Given the description of an element on the screen output the (x, y) to click on. 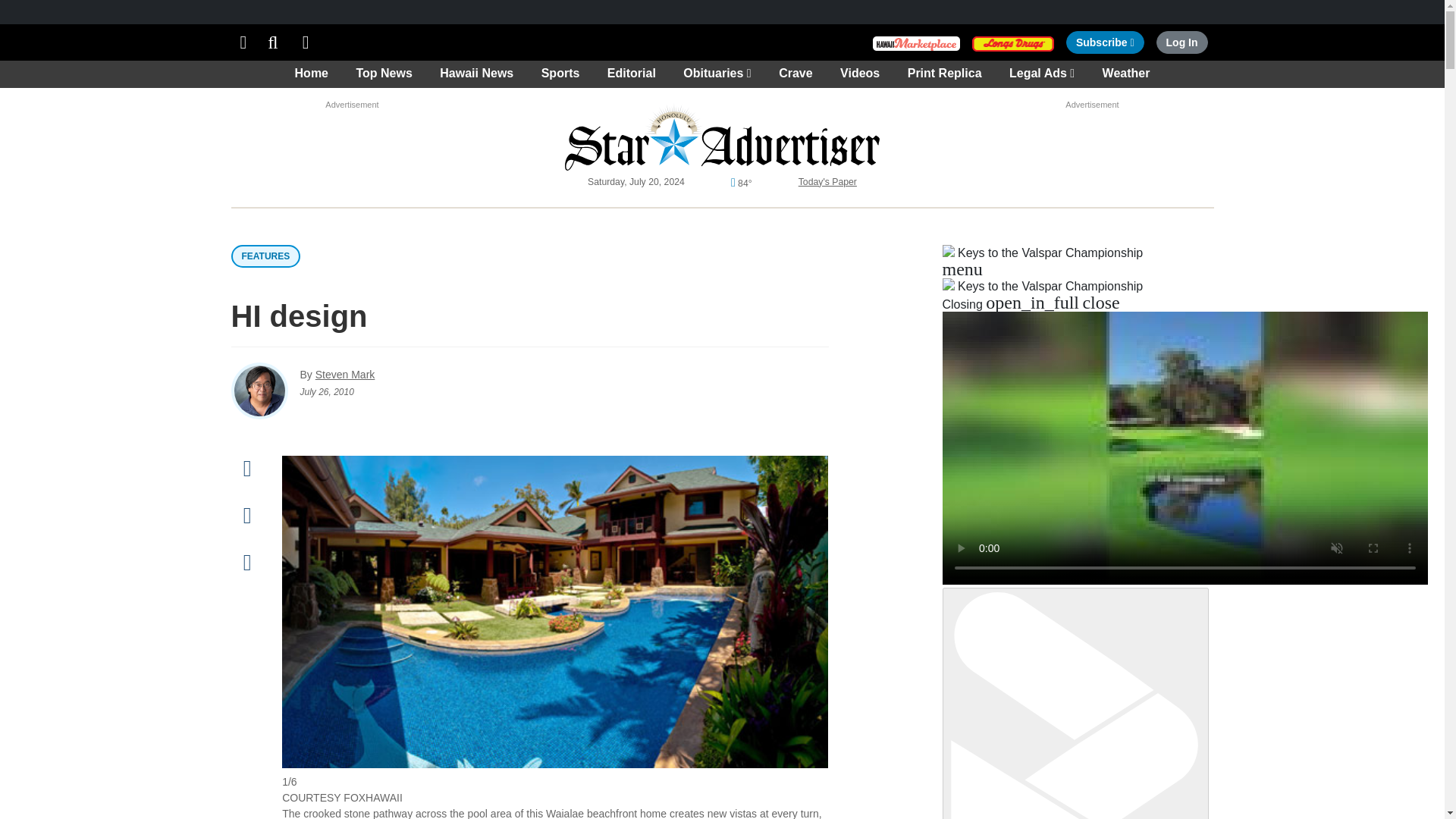
Search (272, 42)
Print Replica (1104, 42)
Honolulu Star-Advertiser (306, 42)
Opens in a new tab (721, 136)
3rd party ad content (1013, 41)
Log In (351, 127)
Sections (1182, 42)
Opens in a new tab (243, 42)
